Given the description of an element on the screen output the (x, y) to click on. 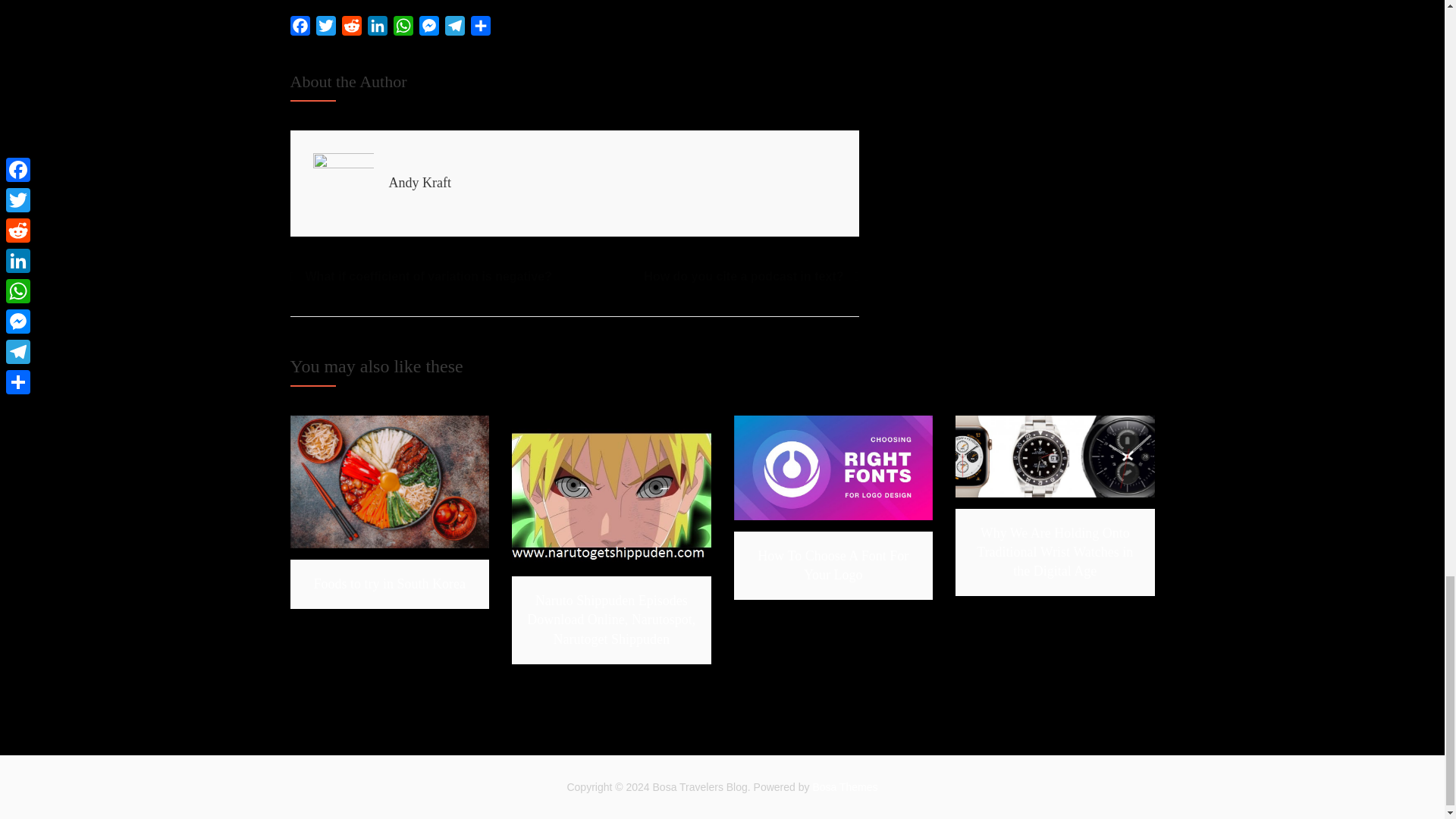
Telegram (454, 28)
Share (480, 28)
Twitter (325, 28)
Andy Kraft (418, 182)
Messenger (427, 28)
How do you cite a podcast in text? (751, 276)
LinkedIn (377, 28)
What if coefficient of variation is negative? (420, 276)
Reddit (350, 28)
WhatsApp (402, 28)
WhatsApp (402, 28)
Facebook (299, 28)
Facebook (299, 28)
LinkedIn (377, 28)
Reddit (350, 28)
